Given the description of an element on the screen output the (x, y) to click on. 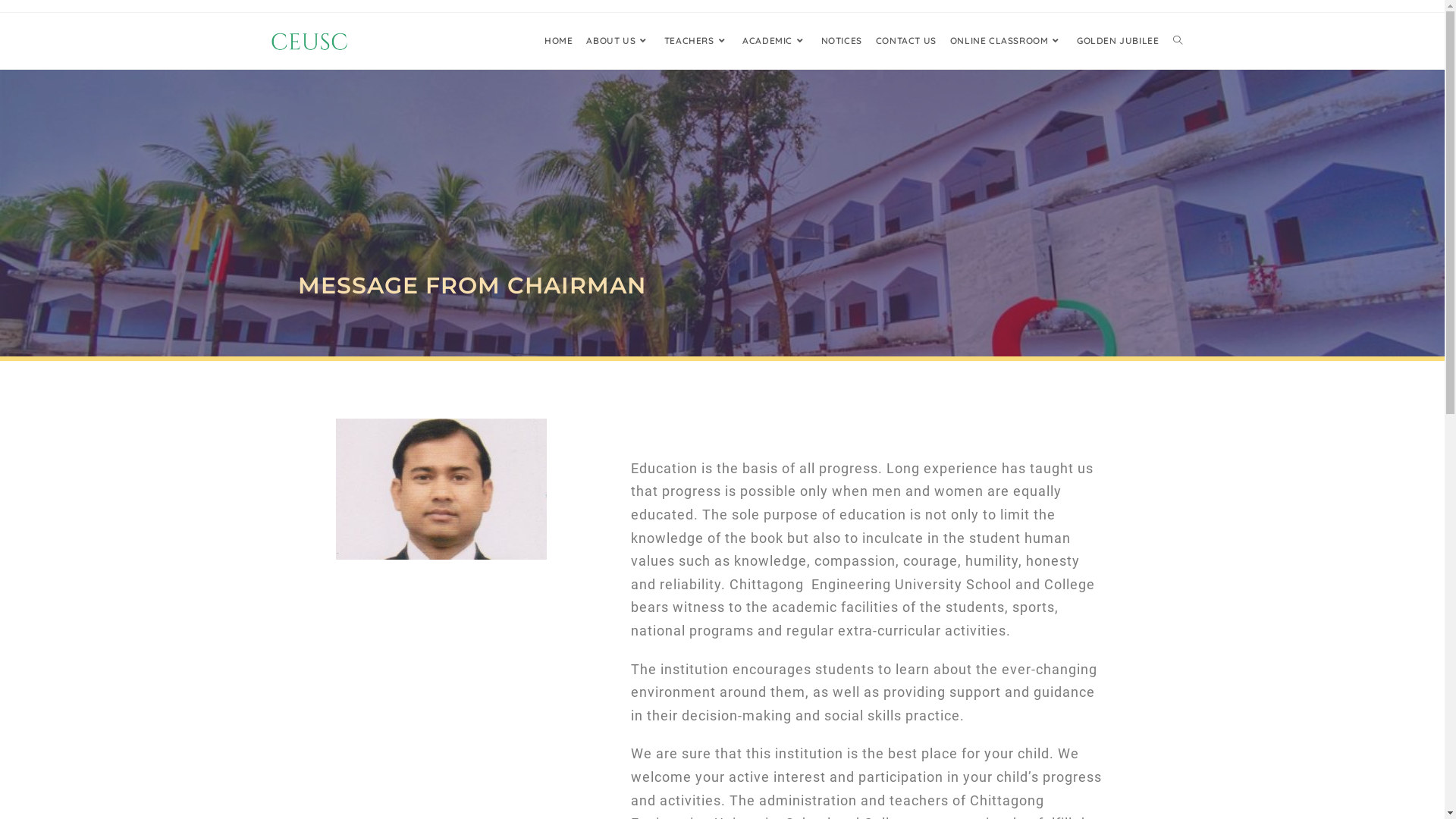
ACADEMIC Element type: text (774, 40)
GOLDEN JUBILEE Element type: text (1117, 40)
ABOUT US Element type: text (617, 40)
TEACHERS Element type: text (696, 40)
NOTICES Element type: text (841, 40)
ONLINE CLASSROOM Element type: text (1006, 40)
HOME Element type: text (558, 40)
CONTACT US Element type: text (906, 40)
